Given the description of an element on the screen output the (x, y) to click on. 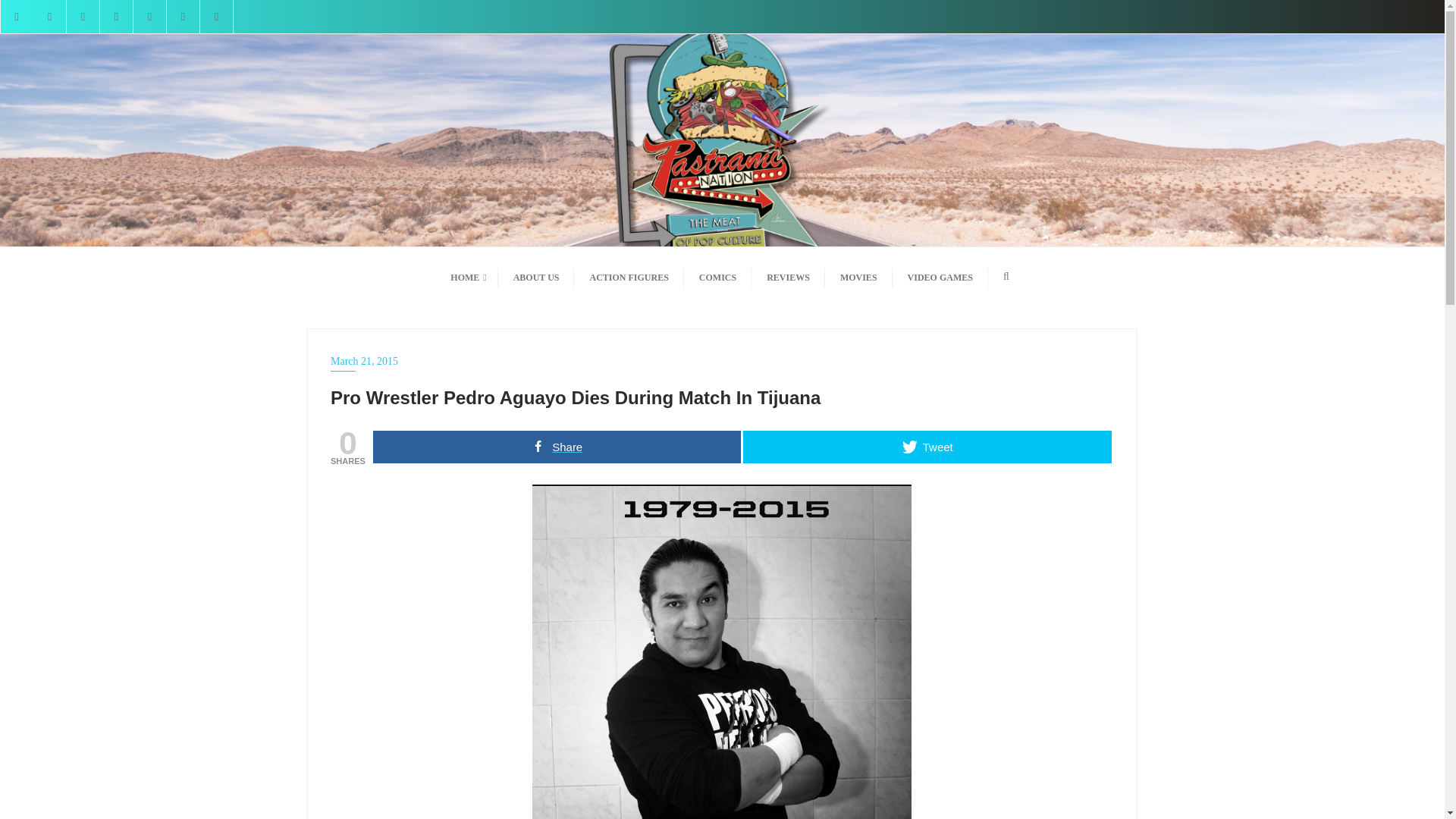
ABOUT US (536, 276)
MOVIES (858, 276)
REVIEWS (788, 276)
VIDEO GAMES (940, 276)
Share (556, 446)
Tweet (927, 446)
COMICS (717, 276)
ACTION FIGURES (627, 276)
March 21, 2015 (721, 361)
HOME (466, 276)
